Given the description of an element on the screen output the (x, y) to click on. 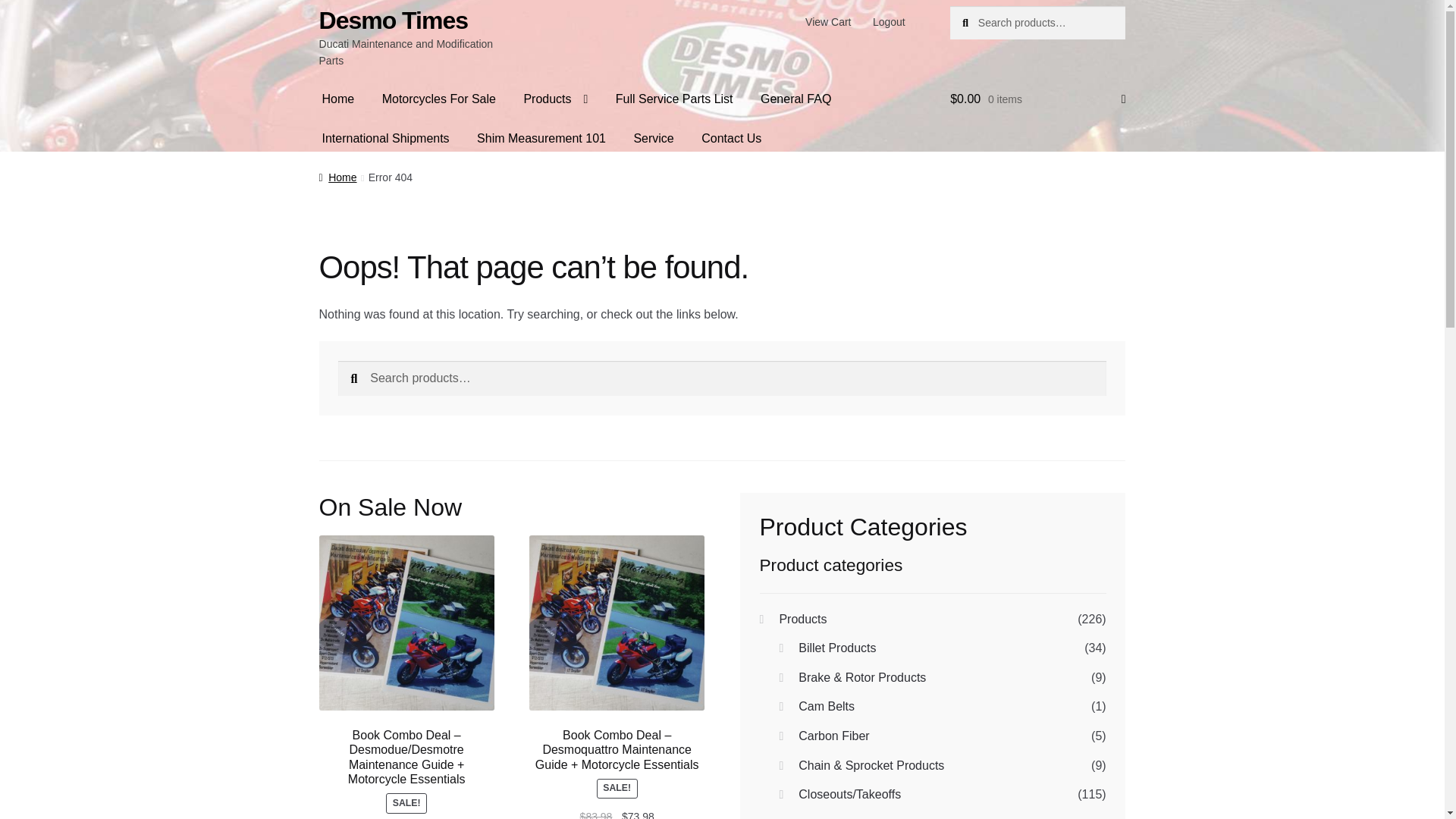
Home (338, 98)
View Cart (828, 21)
1995 Buell S1 For Sale (614, 171)
General FAQ (795, 98)
Motorcycles For Sale (438, 98)
Desmo Times (393, 20)
2000 Buell M2 For Sale (742, 171)
Contact Us (730, 138)
International Shipments (385, 138)
View your shopping cart (1037, 98)
Service (653, 138)
Shim Measurement 101 (540, 138)
Logout (888, 21)
